Given the description of an element on the screen output the (x, y) to click on. 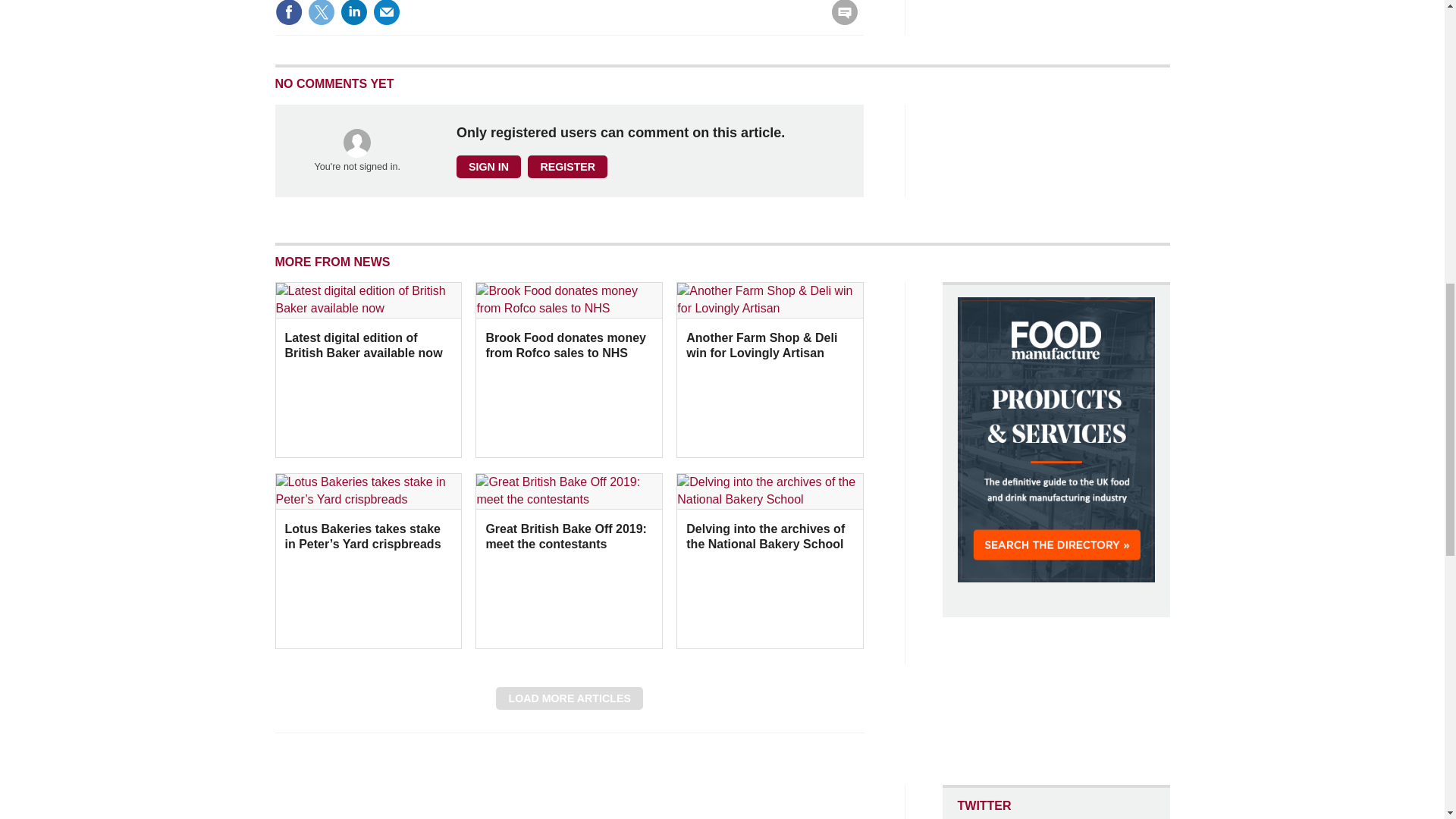
Share this on Twitter (320, 12)
Share this on Linked in (352, 12)
No comments (840, 20)
Email this article (386, 12)
Share this on Facebook (288, 12)
